Given the description of an element on the screen output the (x, y) to click on. 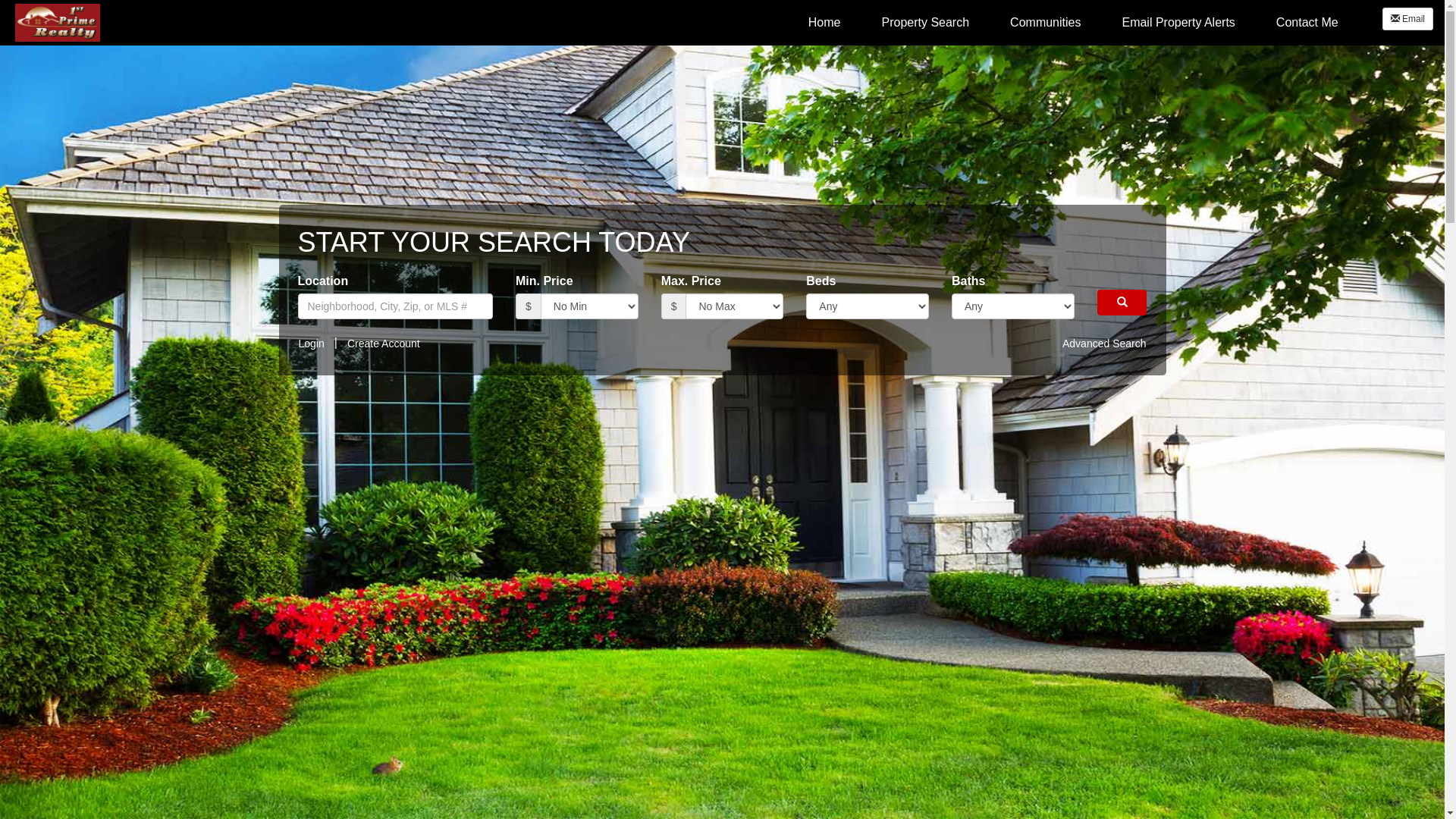
Property Search Element type: text (924, 23)
   Search
    Element type: text (1122, 302)
Advanced Search Element type: text (1099, 343)
Contact Me Element type: text (1306, 23)
Home Element type: hover (57, 21)
Create Account Element type: text (383, 343)
Communities Element type: text (1045, 23)
Email Element type: text (1407, 18)
1st Prime Realty Element type: hover (57, 22)
Login Element type: text (315, 343)
Email Property Alerts Element type: text (1177, 23)
Home Element type: text (824, 23)
